Given the description of an element on the screen output the (x, y) to click on. 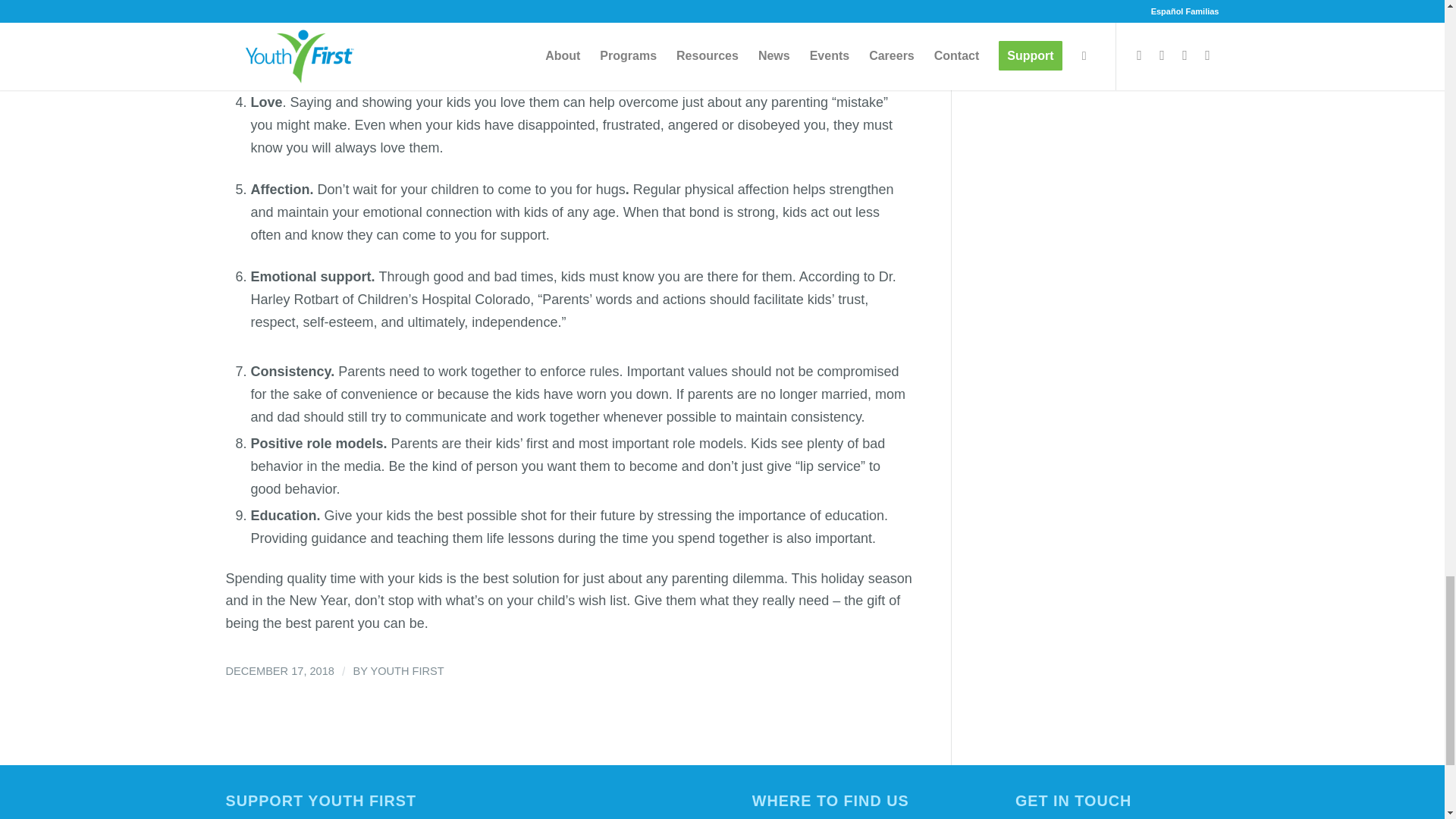
Posts by Youth First (406, 671)
